Given the description of an element on the screen output the (x, y) to click on. 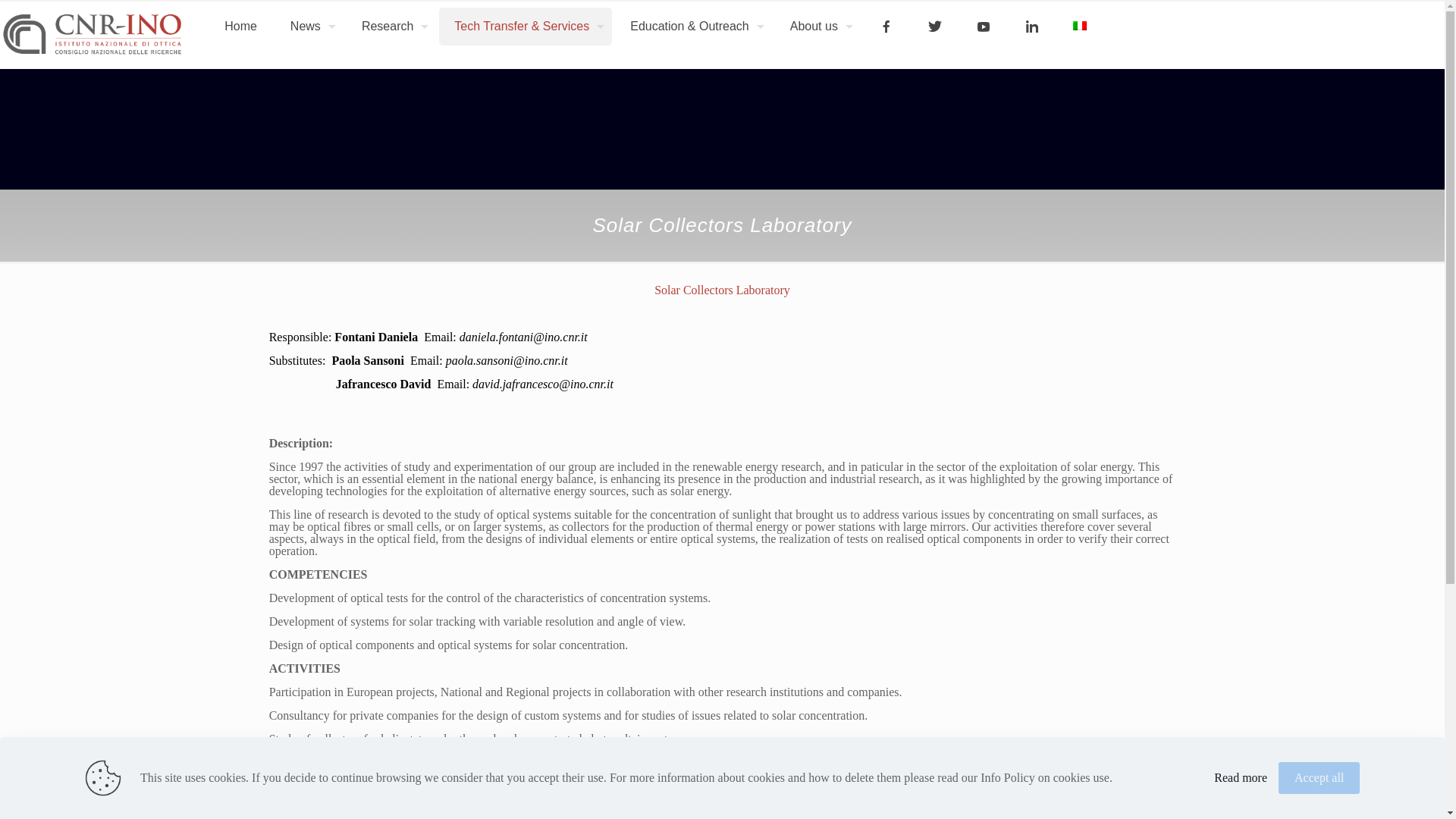
Home (240, 26)
News (309, 26)
Research (390, 26)
